Given the description of an element on the screen output the (x, y) to click on. 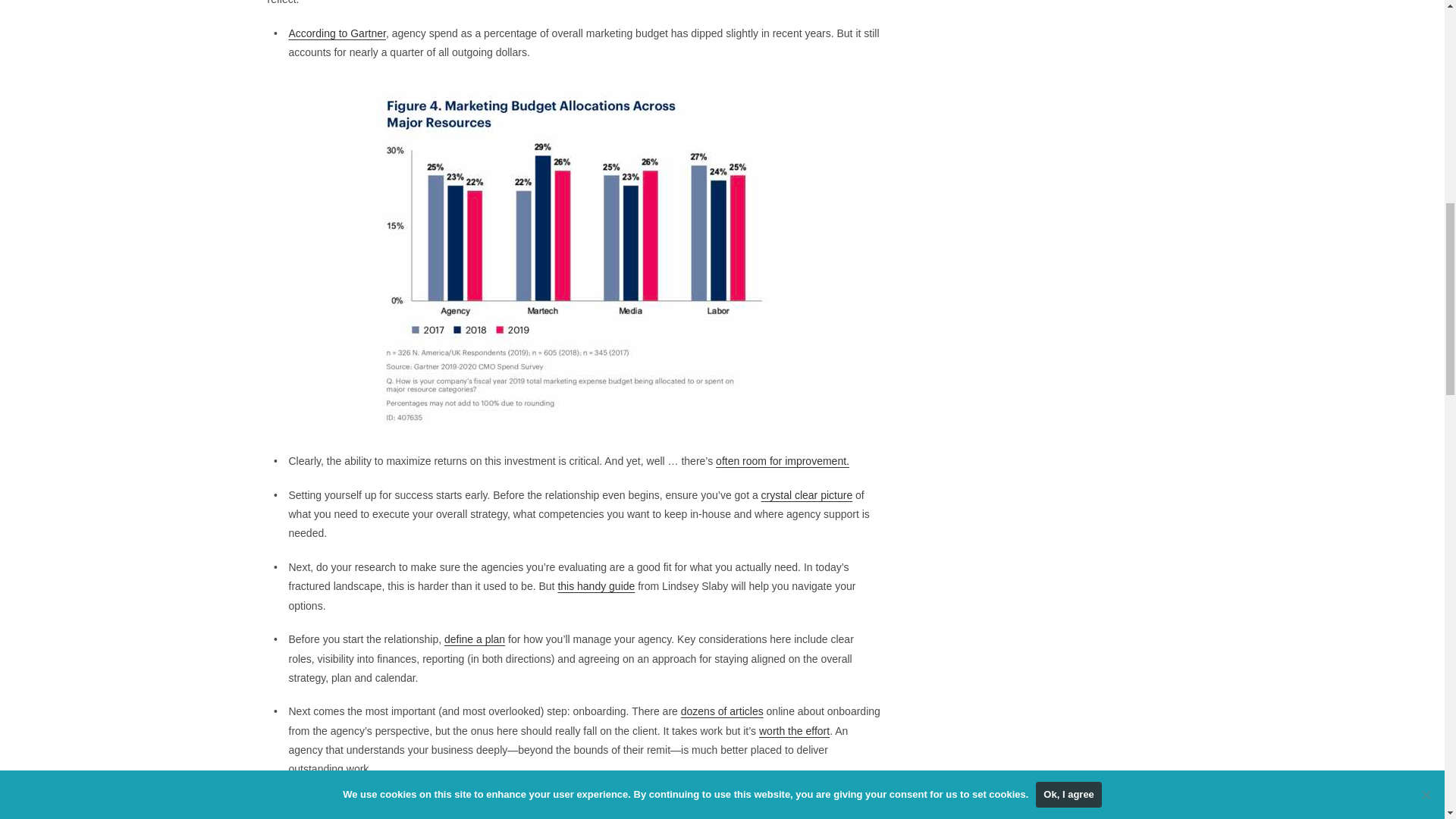
worth the effort (793, 730)
often room for improvement. (782, 460)
According to Gartner (336, 33)
define a plan (474, 639)
this handy guide (595, 585)
crystal clear picture (807, 494)
dozens of articles (721, 711)
ANA survey (841, 802)
